Given the description of an element on the screen output the (x, y) to click on. 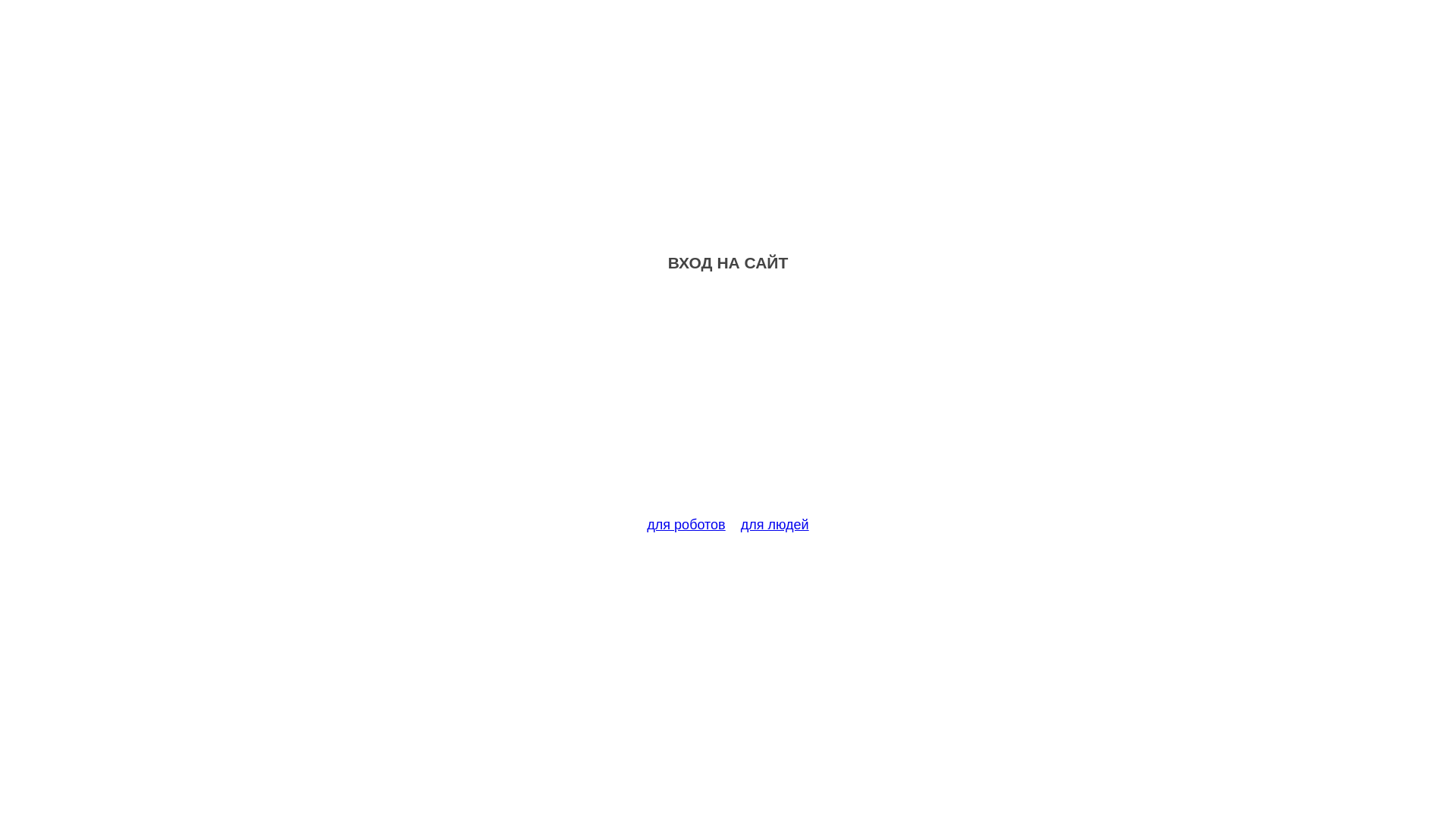
Advertisement Element type: hover (727, 403)
